Given the description of an element on the screen output the (x, y) to click on. 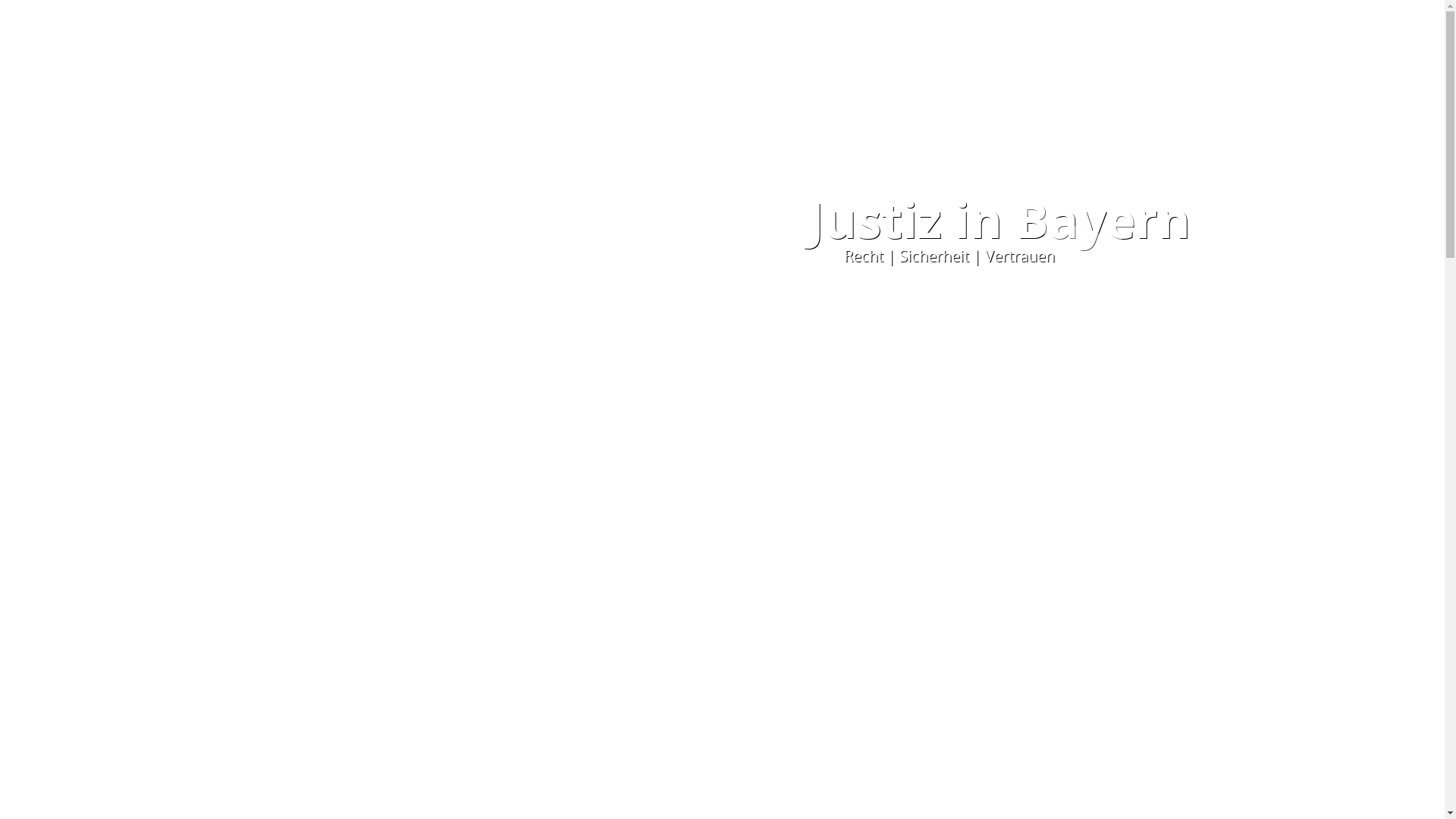
Seite vorlesen lassen [Alt-L] Element type: hover (252, 20)
